Given the description of an element on the screen output the (x, y) to click on. 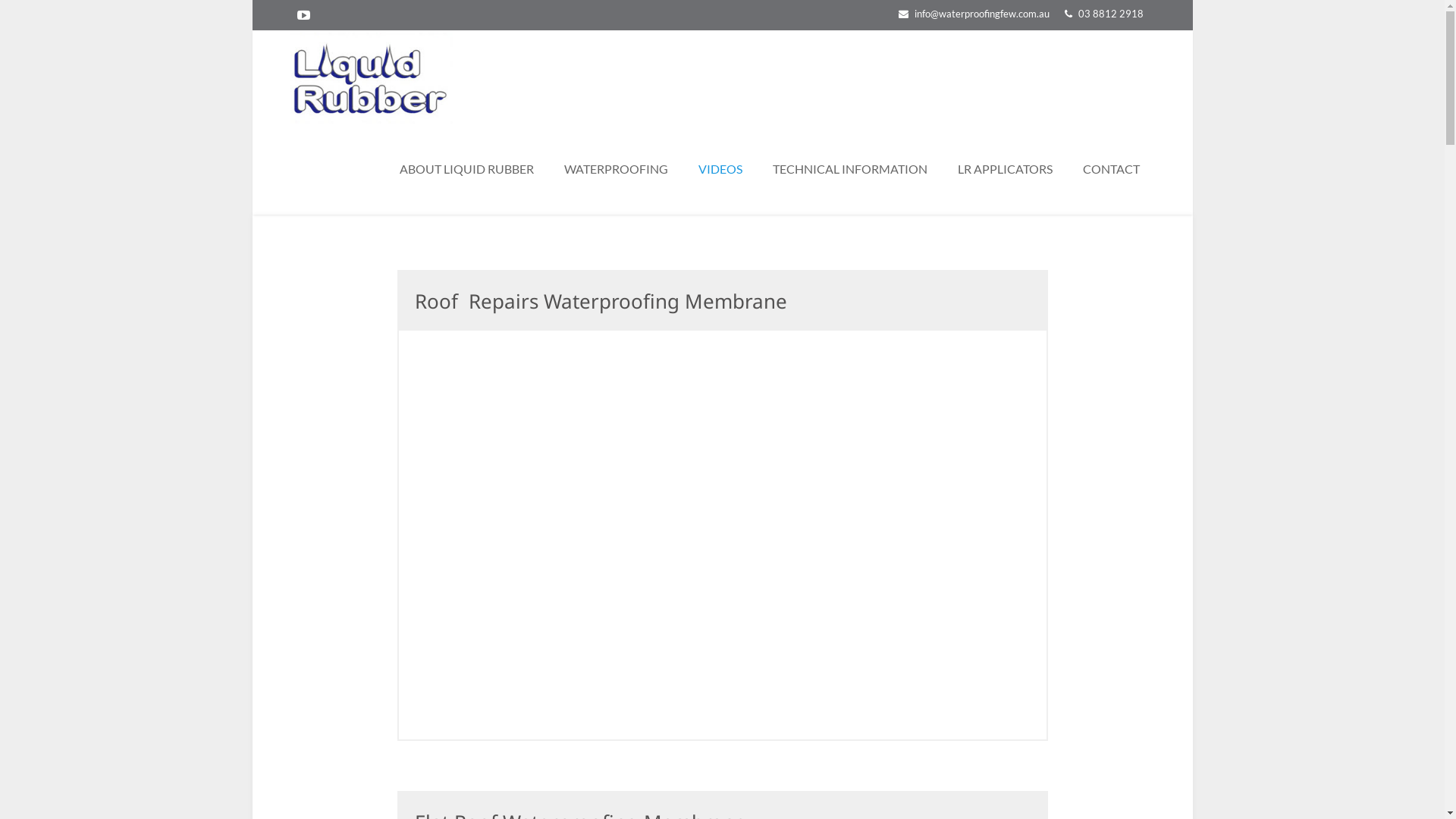
WATERPROOFING Element type: text (616, 168)
VIDEOS Element type: text (719, 168)
ABOUT LIQUID RUBBER Element type: text (465, 168)
CONTACT Element type: text (1110, 168)
LR APPLICATORS Element type: text (1003, 168)
TECHNICAL INFORMATION Element type: text (848, 168)
info@waterproofingfew.com.au Element type: text (981, 13)
